Given the description of an element on the screen output the (x, y) to click on. 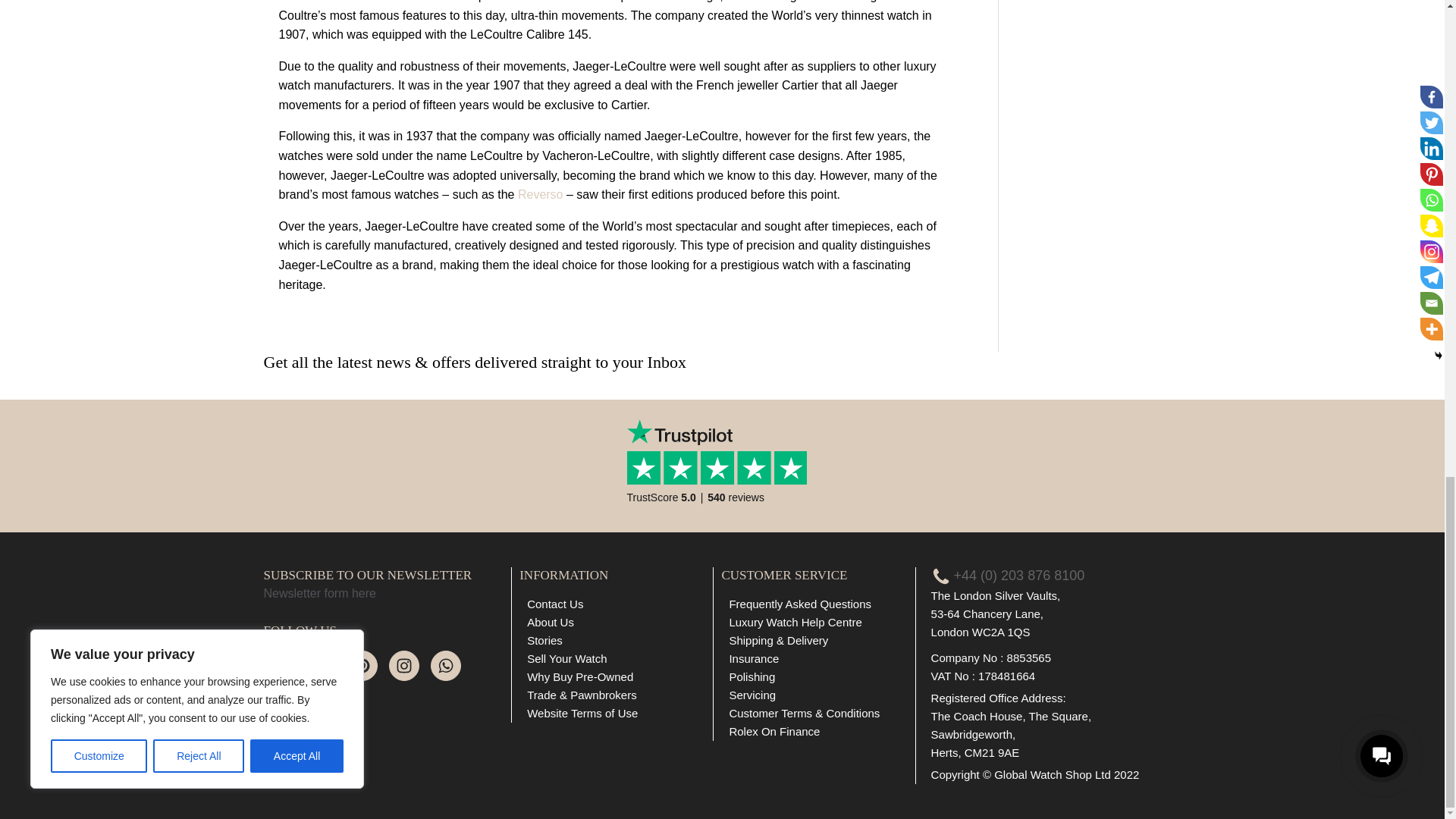
Customer reviews powered by Trustpilot (721, 475)
